Given the description of an element on the screen output the (x, y) to click on. 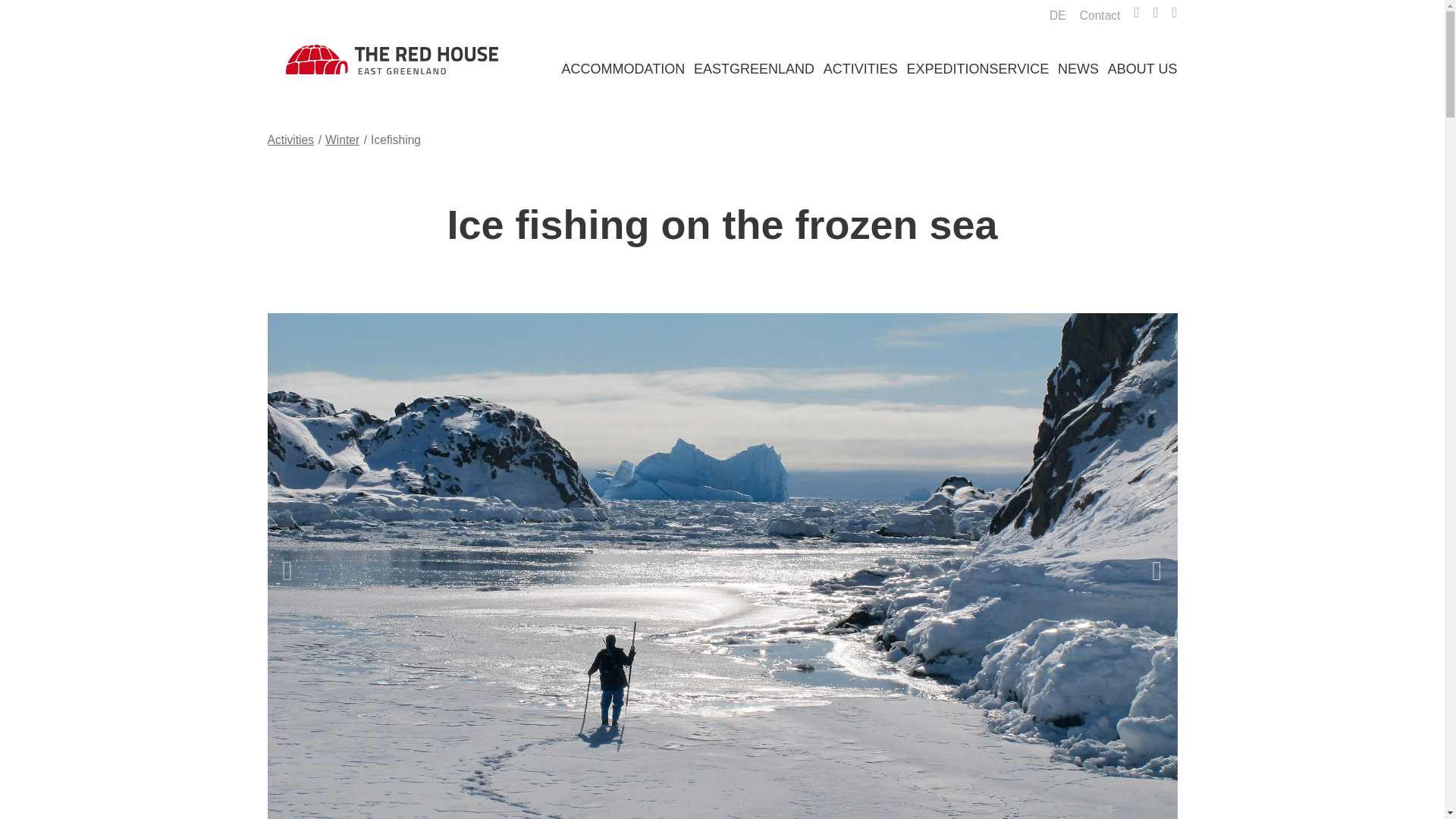
expeditionservice (978, 68)
DE (1057, 15)
Winter (341, 139)
Contact (1100, 15)
Winter (1057, 15)
ACCOMMODATION (622, 68)
Activities (290, 139)
Contact (1100, 15)
EASTGREENLAND (753, 68)
Accommodation (622, 68)
